Given the description of an element on the screen output the (x, y) to click on. 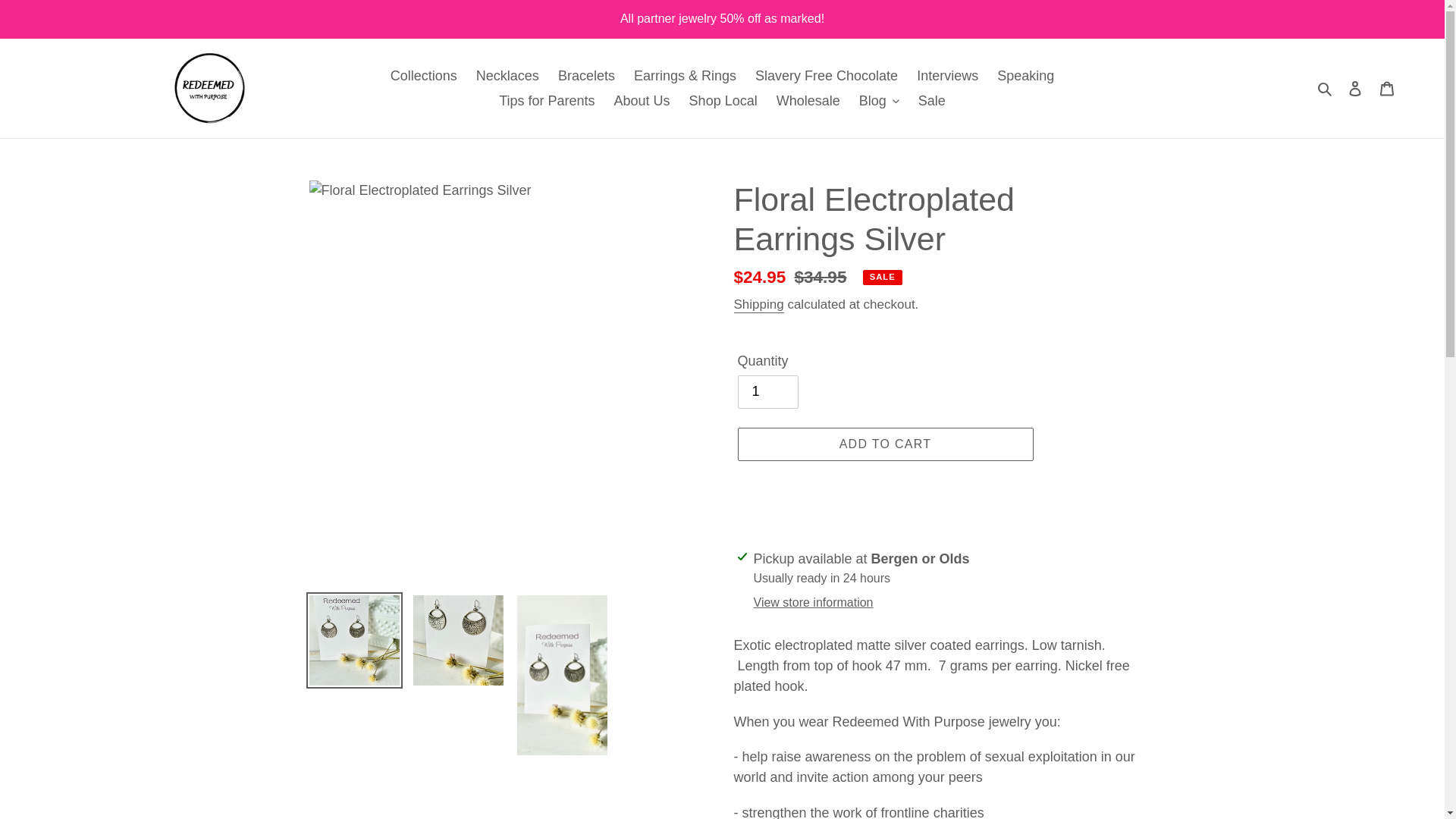
Tips for Parents (547, 100)
Collections (423, 75)
Shop Local (723, 100)
1 (766, 391)
About Us (642, 100)
Necklaces (507, 75)
Wholesale (807, 100)
Sale (932, 100)
Log in (1355, 88)
Cart (1387, 88)
